Given the description of an element on the screen output the (x, y) to click on. 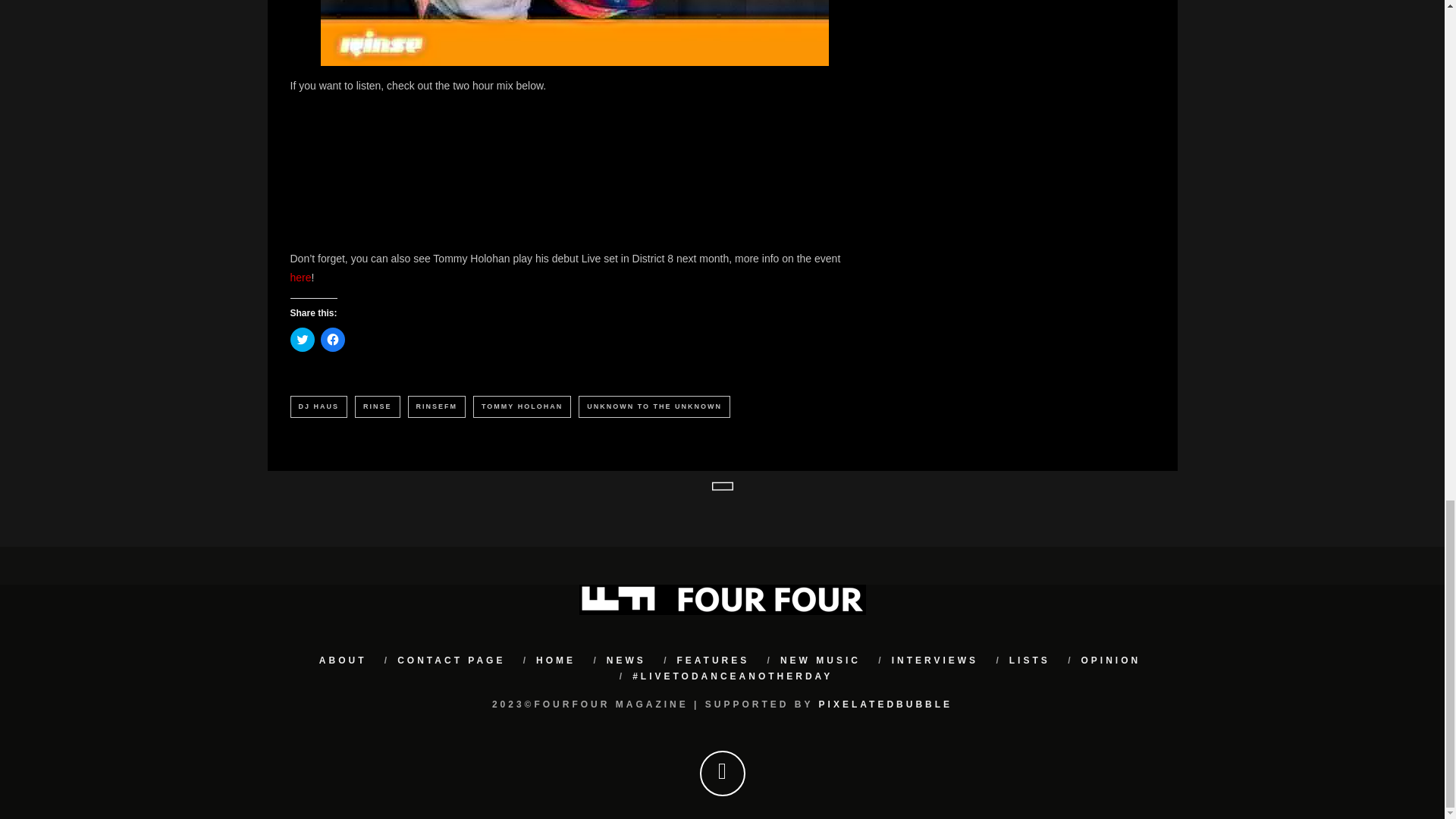
Click to share on Twitter (301, 339)
here (300, 277)
Click to share on Facebook (331, 339)
